Given the description of an element on the screen output the (x, y) to click on. 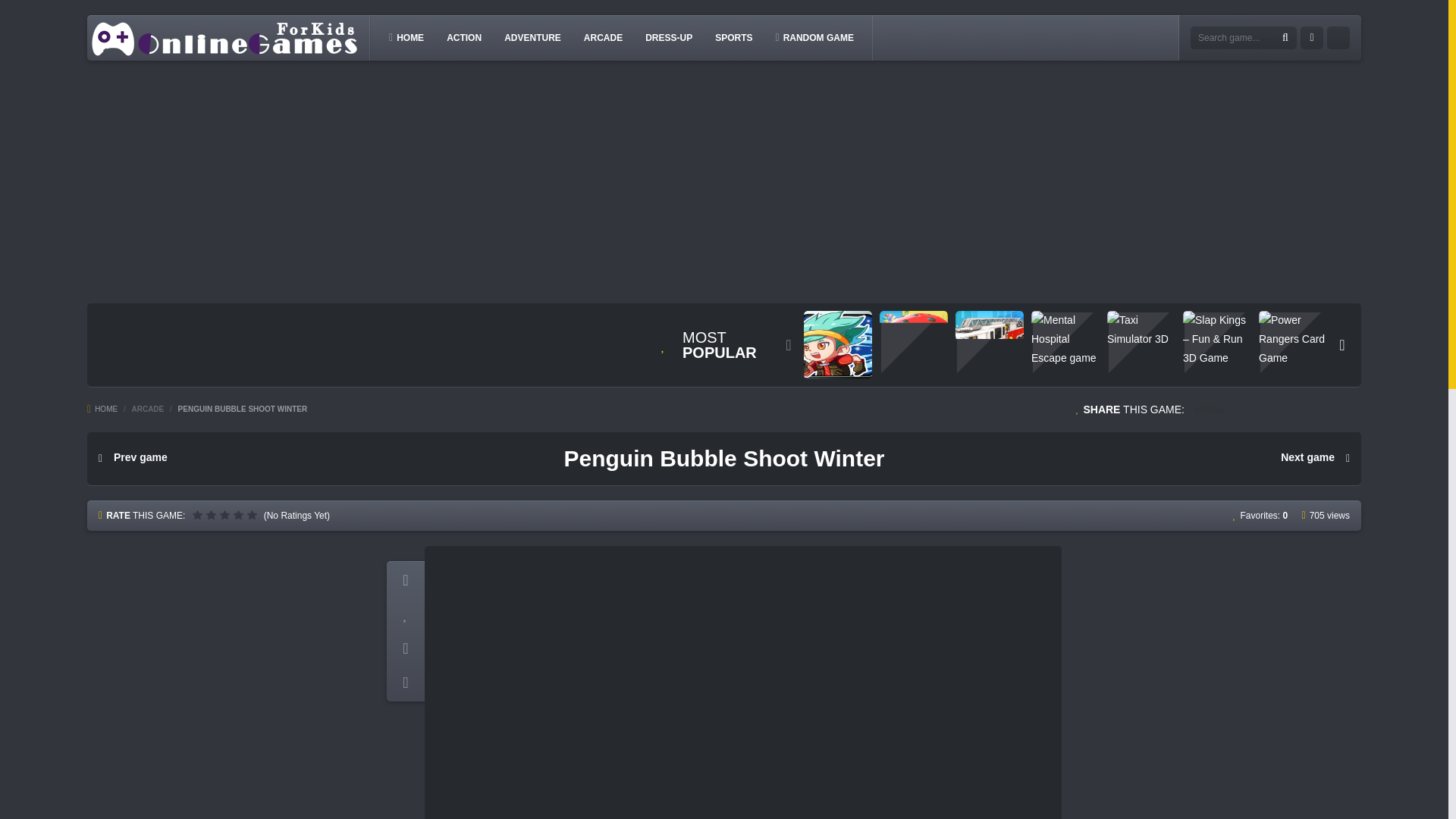
Feed (1337, 37)
Facebook (1311, 37)
Online Game For Kids (224, 37)
DRESS-UP (668, 37)
RANDOM GAME (813, 37)
Search (1285, 37)
ARCADE (603, 37)
Next game (1315, 457)
HOME (102, 408)
